Given the description of an element on the screen output the (x, y) to click on. 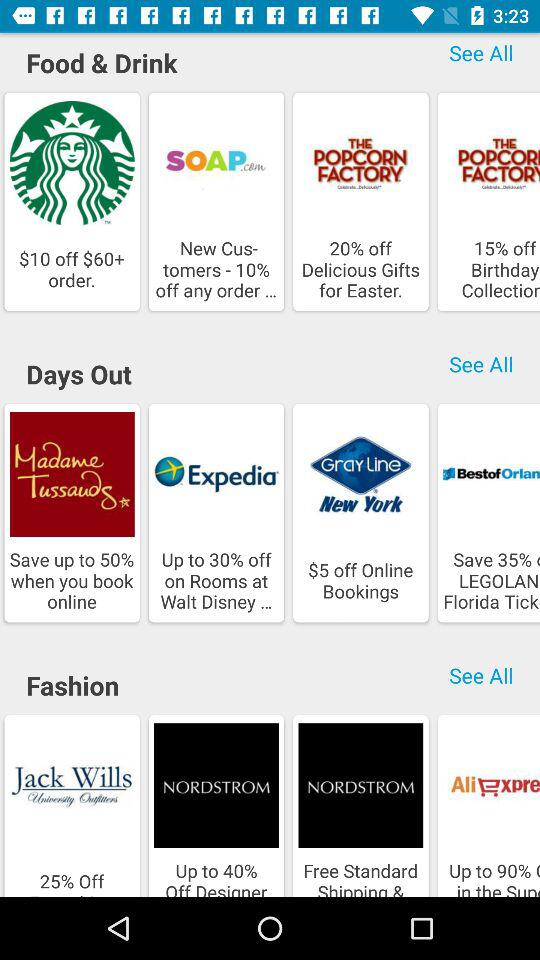
select first see all (481, 55)
click gray line new york (360, 473)
choose the last option below the fashion (486, 803)
click on second image under food  drink (216, 201)
select the third image from the food and drink (360, 163)
select the image which is in the second row second image (216, 512)
